Given the description of an element on the screen output the (x, y) to click on. 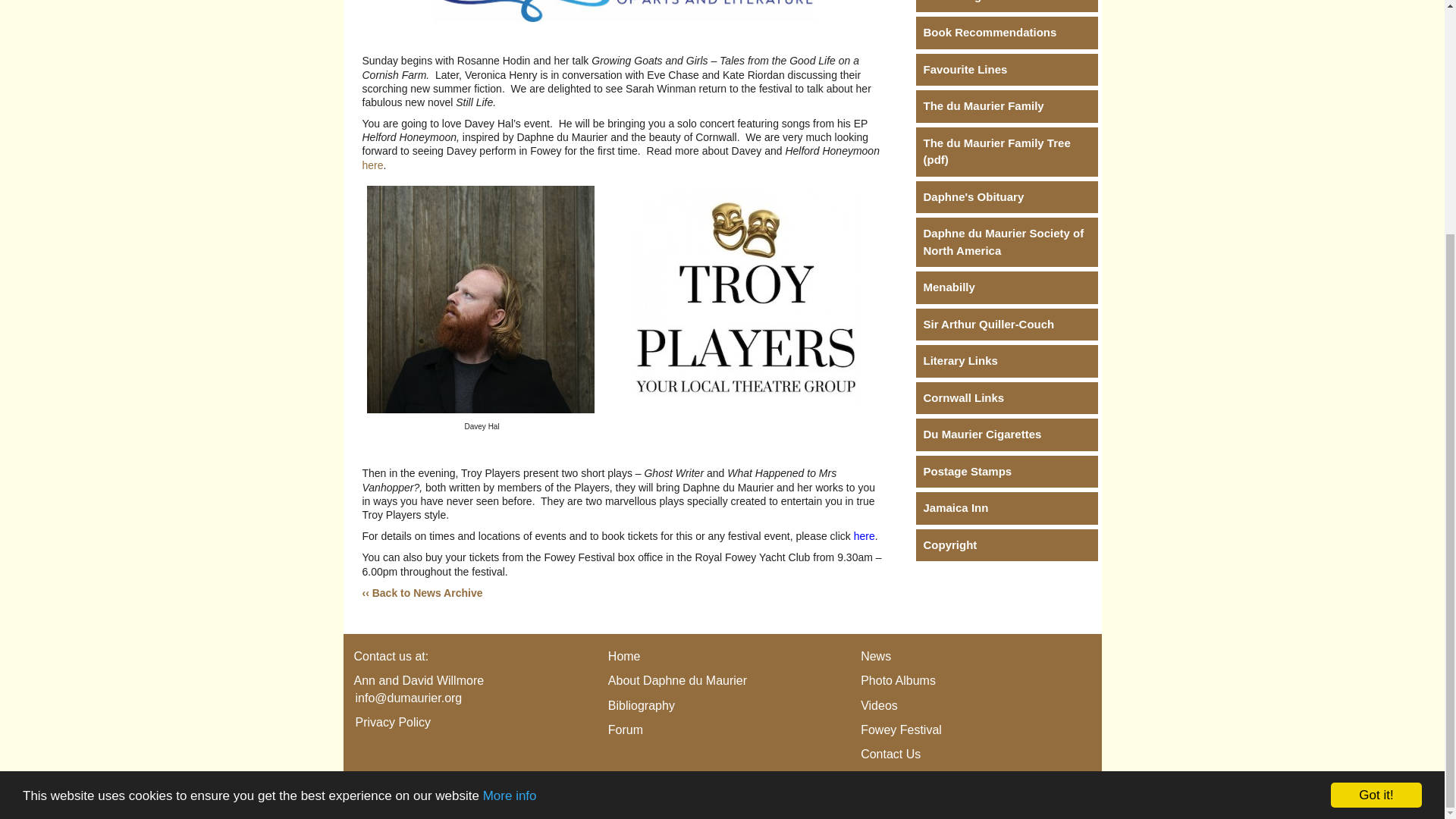
Interesting Facts (1006, 6)
The du Maurier Family (1006, 106)
Daphne's Obituary (1006, 196)
Postage Stamps (1006, 471)
Sir Arthur Quiller-Couch (1006, 324)
More info (510, 477)
here (864, 535)
Menabilly (1006, 287)
Daphne du Maurier Society of North America (1006, 241)
Jamaica Inn (1006, 508)
Book Recommendations (1006, 32)
Favourite Lines (1006, 70)
Privacy Policy (392, 722)
Got it! (1376, 476)
Du Maurier Cigarettes (1006, 434)
